Given the description of an element on the screen output the (x, y) to click on. 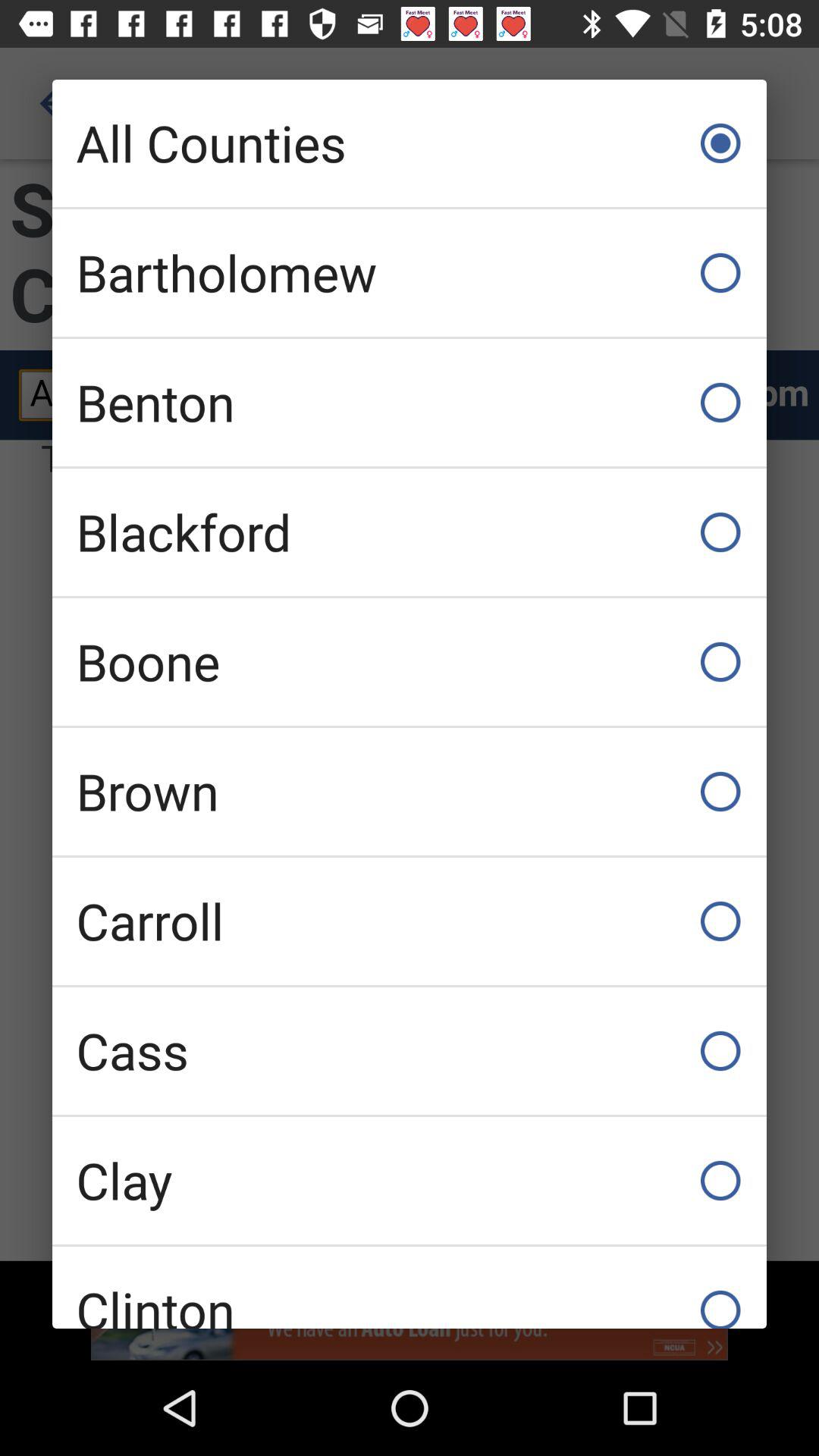
turn on the icon below the carroll item (409, 1050)
